Given the description of an element on the screen output the (x, y) to click on. 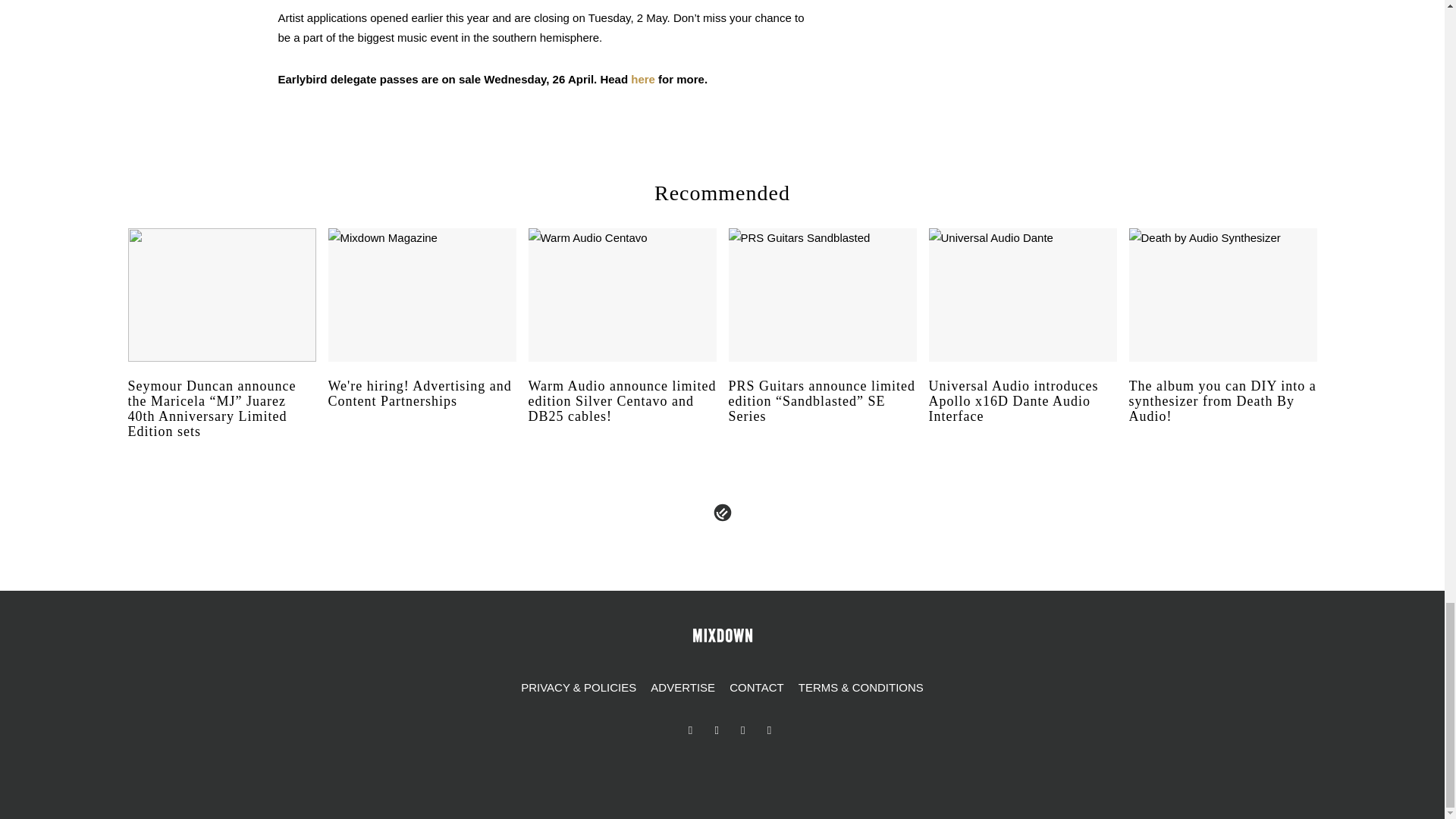
We're hiring! Advertising and Content Partnerships (421, 407)
here (642, 78)
Universal Audio introduces Apollo x16D Dante Audio Interface (1022, 415)
